Given the description of an element on the screen output the (x, y) to click on. 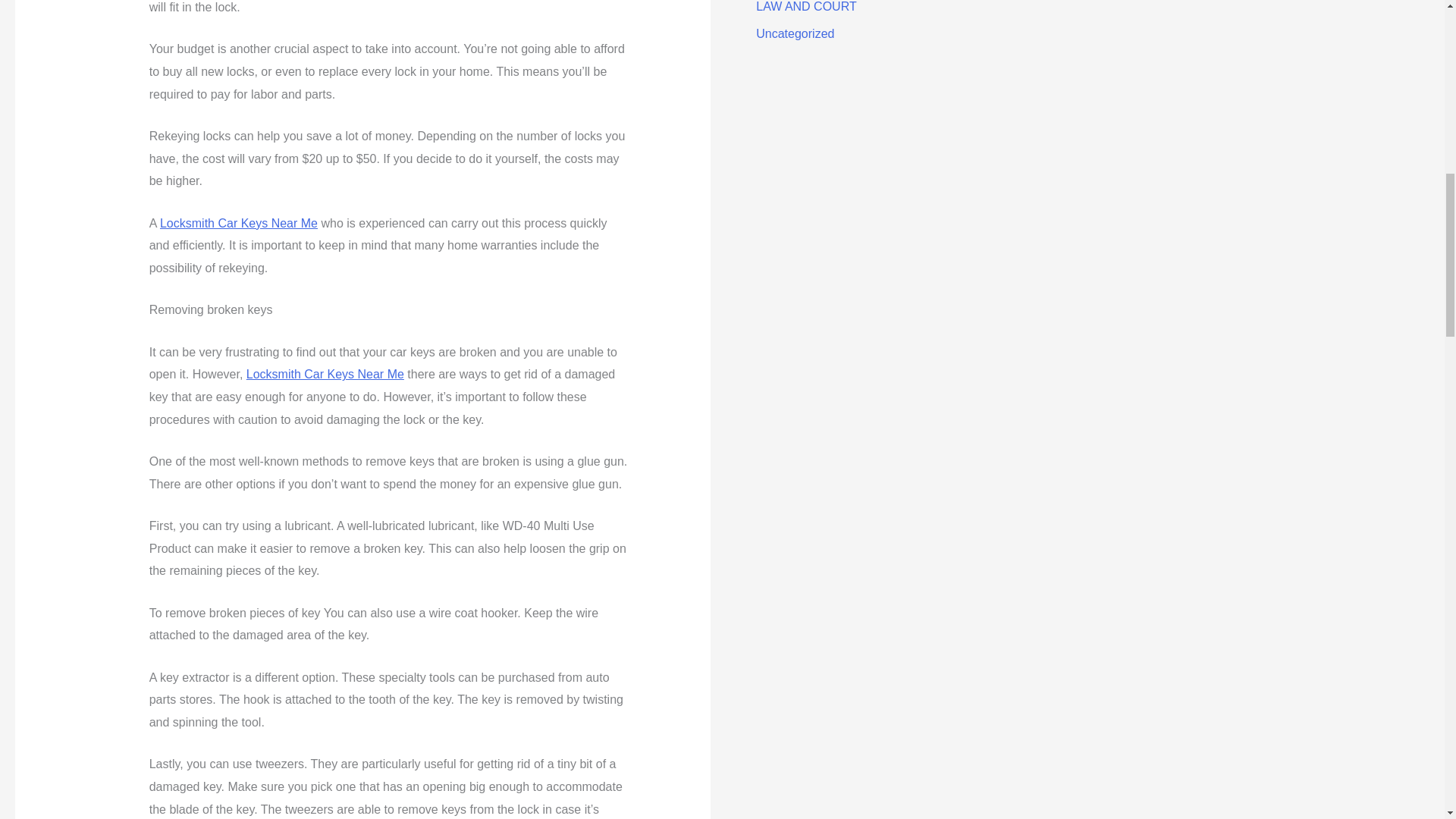
Locksmith Car Keys Near Me (238, 223)
Locksmith Car Keys Near Me (325, 373)
